Given the description of an element on the screen output the (x, y) to click on. 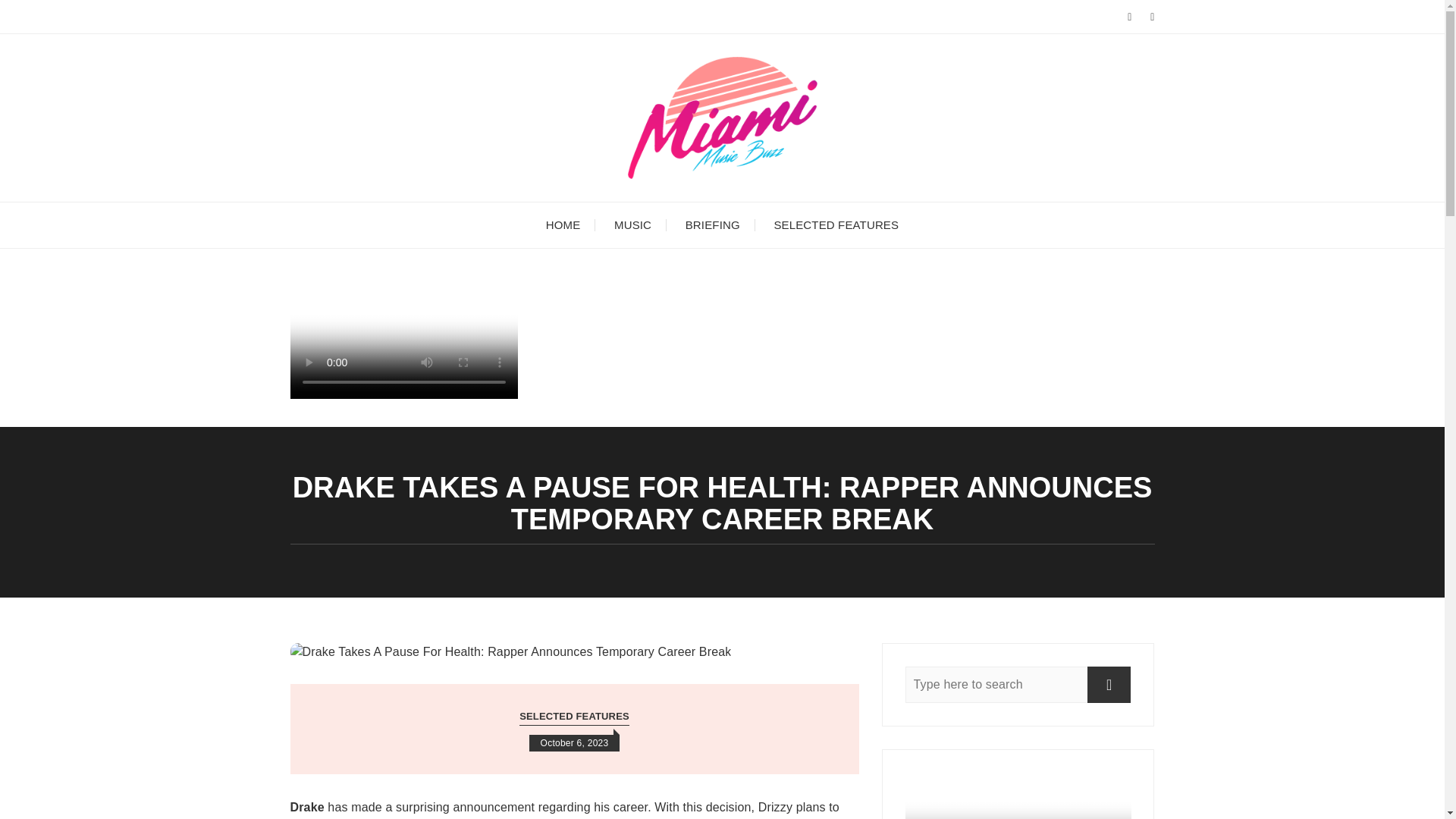
MUSIC (632, 225)
SELECTED FEATURES (573, 717)
Follow on Instagram (402, 394)
SELECTED FEATURES (836, 225)
HOME (563, 225)
BRIEFING (712, 225)
October 6, 2023 (574, 742)
